Given the description of an element on the screen output the (x, y) to click on. 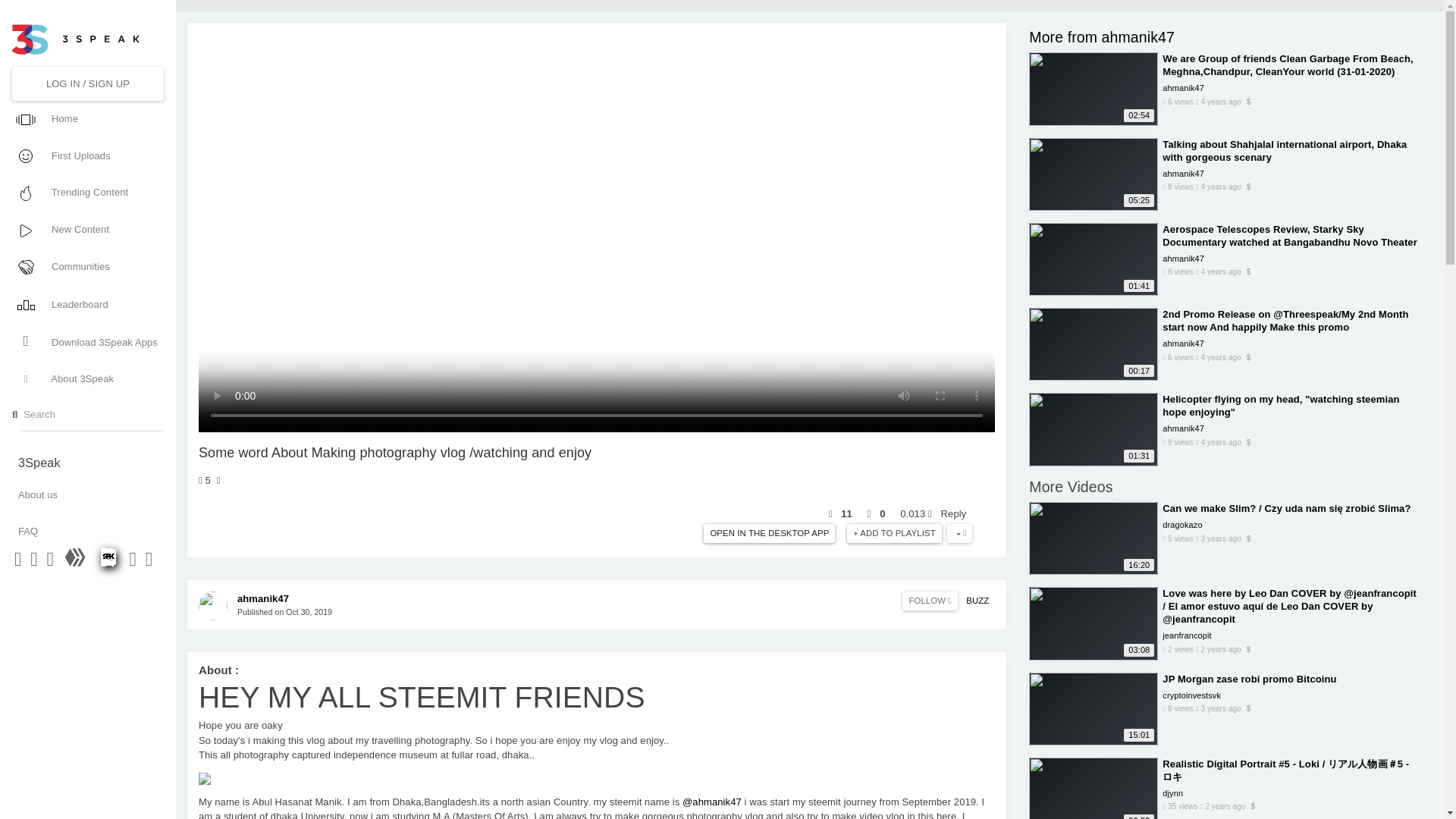
SPK Network (109, 562)
Communities (85, 266)
About 3Speak (85, 379)
New Content (85, 229)
Leaderboard (85, 303)
OPEN IN THE DESKTOP APP (768, 533)
About 3Speak (85, 379)
FOLLOW (929, 600)
Home (85, 118)
FAQ (87, 531)
Payout value (915, 513)
BUZZ (977, 600)
Trending Content (85, 192)
